Given the description of an element on the screen output the (x, y) to click on. 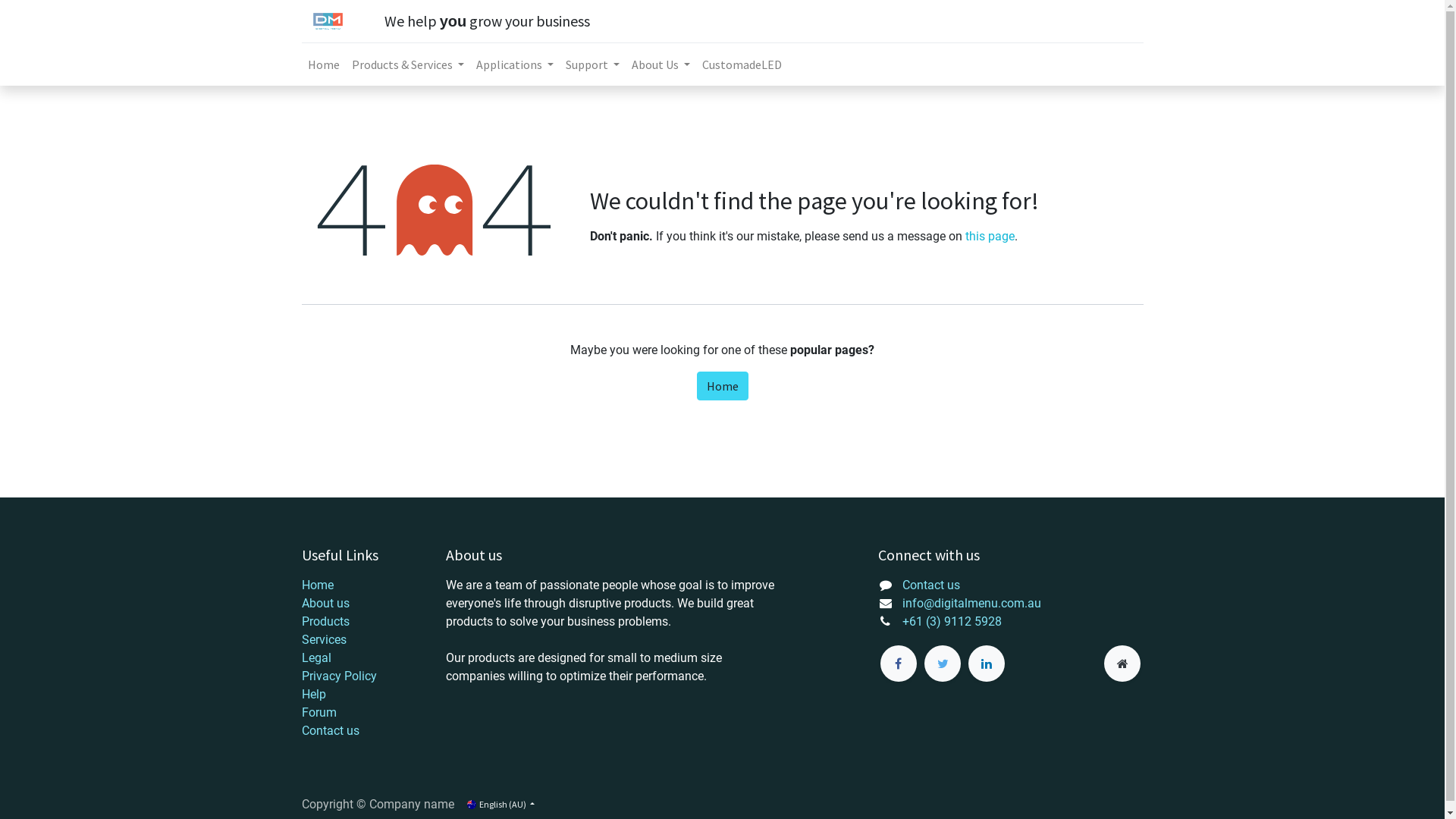
Home Element type: text (323, 64)
English (AU) Element type: text (499, 804)
Forum Element type: text (318, 712)
Home Element type: text (317, 584)
Contact us Element type: text (330, 730)
About Us Element type: text (660, 64)
Products Element type: text (325, 621)
Legal Element type: text (316, 657)
Home Element type: text (721, 385)
Help Element type: text (313, 694)
CustomadeLED Element type: text (741, 64)
Services Element type: text (323, 639)
Support Element type: text (592, 64)
Privacy Policy Element type: text (338, 675)
About us Element type: text (325, 603)
Products & Services Element type: text (407, 64)
Contact us Element type: text (931, 584)
DigitalMenu Element type: hover (327, 21)
Applications Element type: text (514, 64)
this page Element type: text (988, 236)
info@digitalmenu.com.au Element type: text (971, 603)
+61 (3) 9112 5928 Element type: text (951, 621)
